Given the description of an element on the screen output the (x, y) to click on. 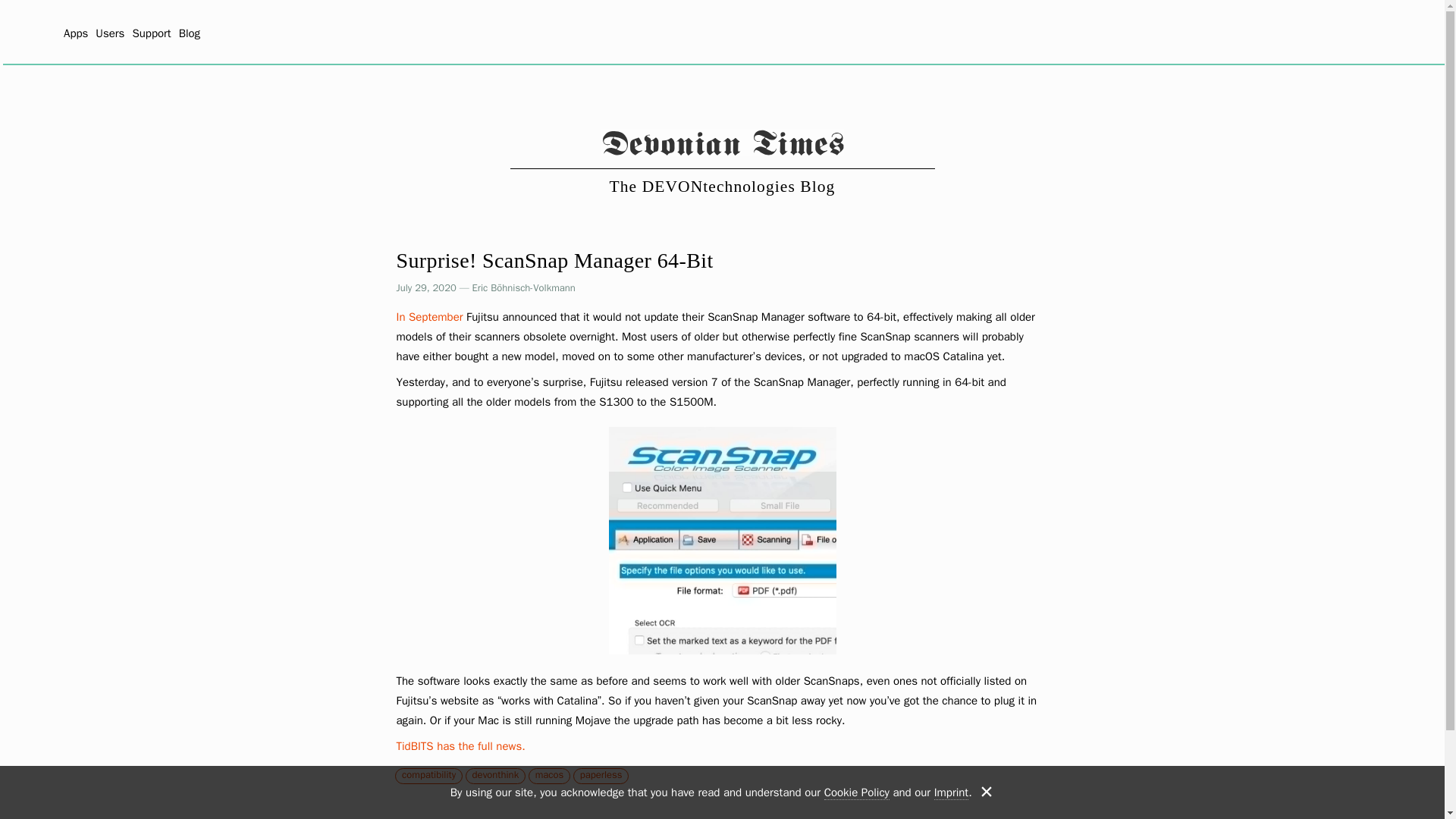
compatibility (428, 774)
macos (549, 774)
paperless (601, 774)
devonthink (495, 774)
TidBITS has the full news. (460, 745)
In September (429, 316)
Blog (189, 33)
